Given the description of an element on the screen output the (x, y) to click on. 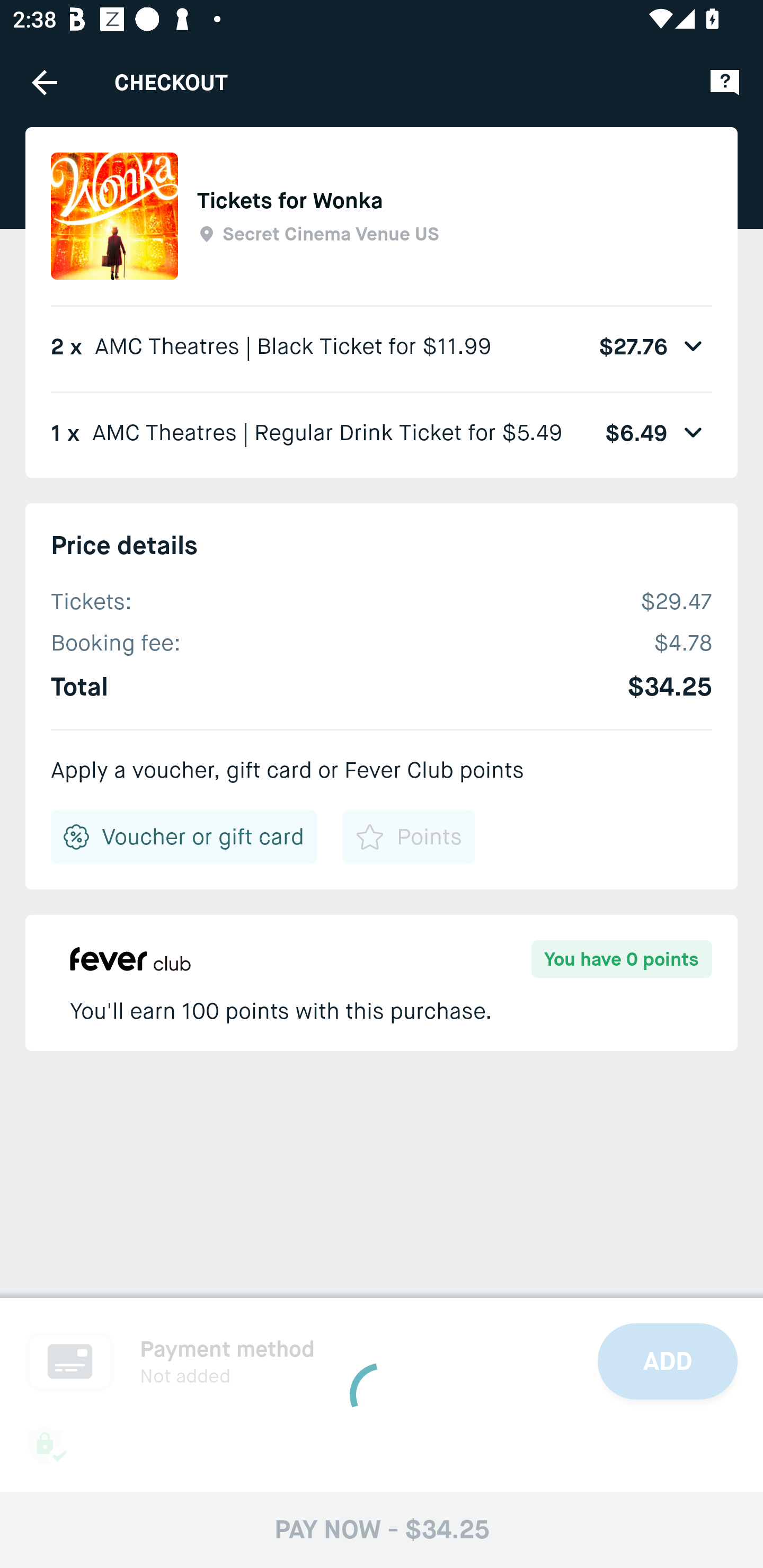
Navigate up (44, 82)
Help (724, 81)
Voucher or gift card (184, 836)
Points (408, 836)
ADD (667, 1361)
PAY NOW - $34.25 (381, 1529)
